Given the description of an element on the screen output the (x, y) to click on. 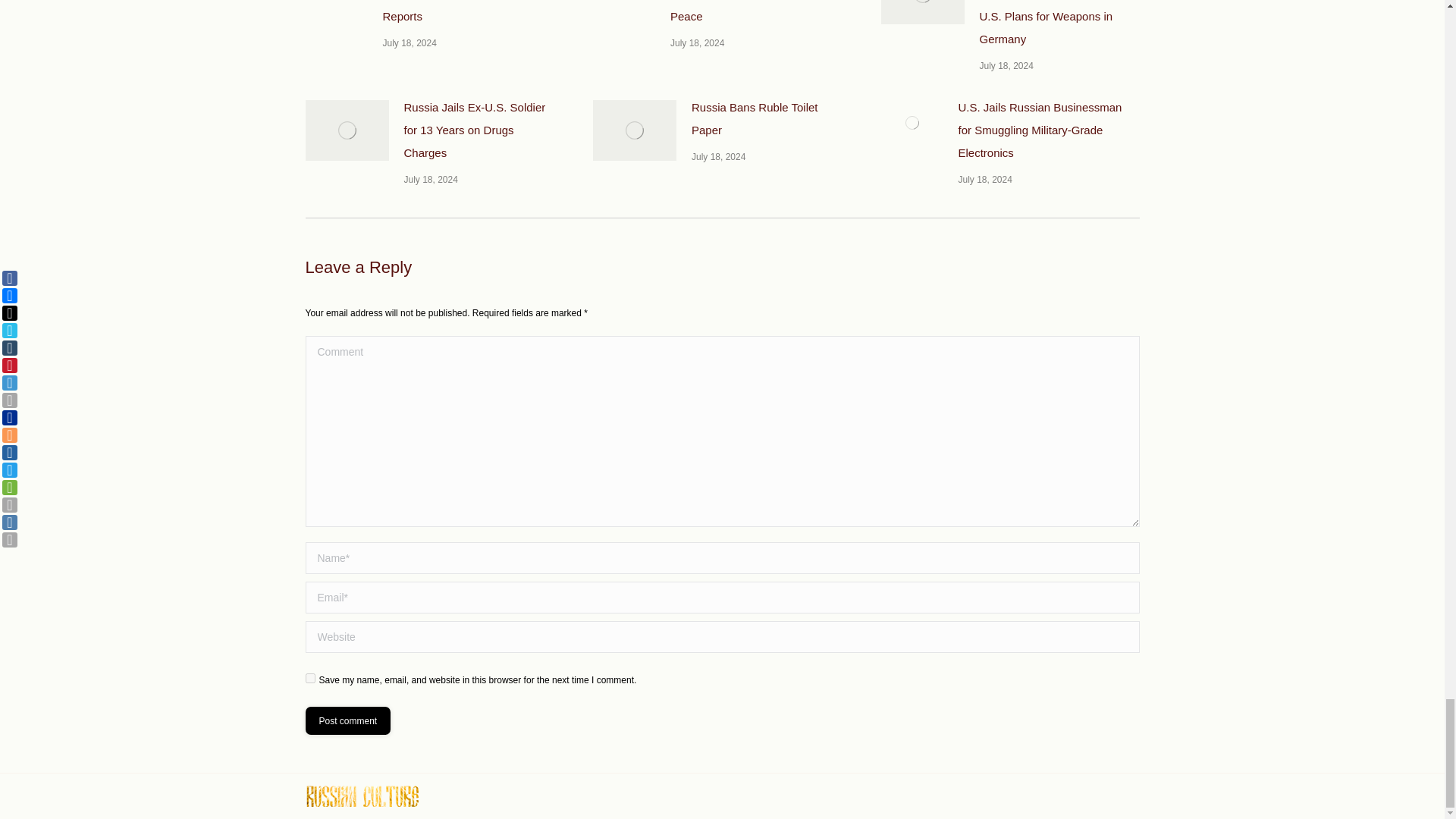
yes (309, 678)
